Given the description of an element on the screen output the (x, y) to click on. 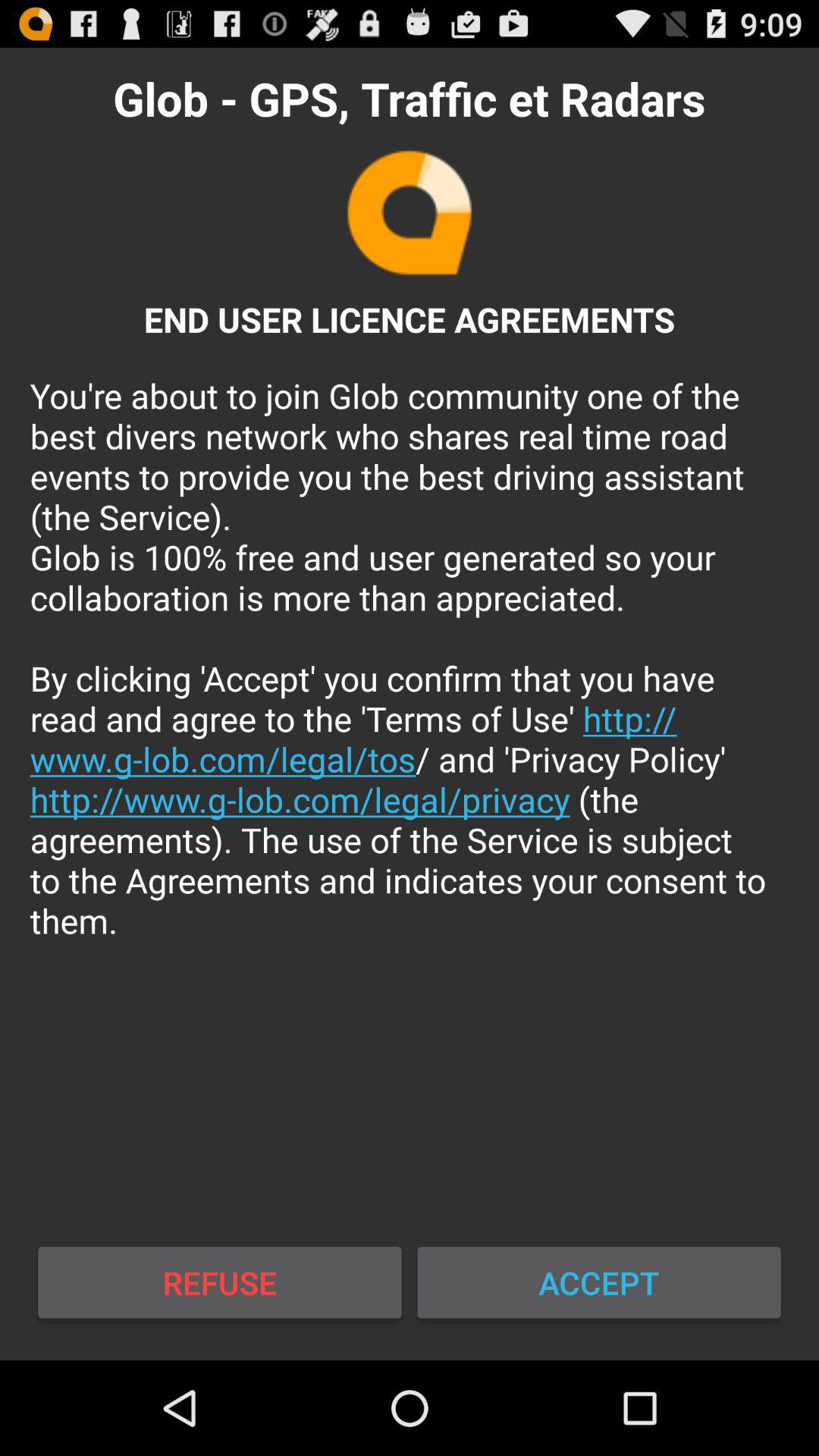
click the button next to the accept (219, 1282)
